Given the description of an element on the screen output the (x, y) to click on. 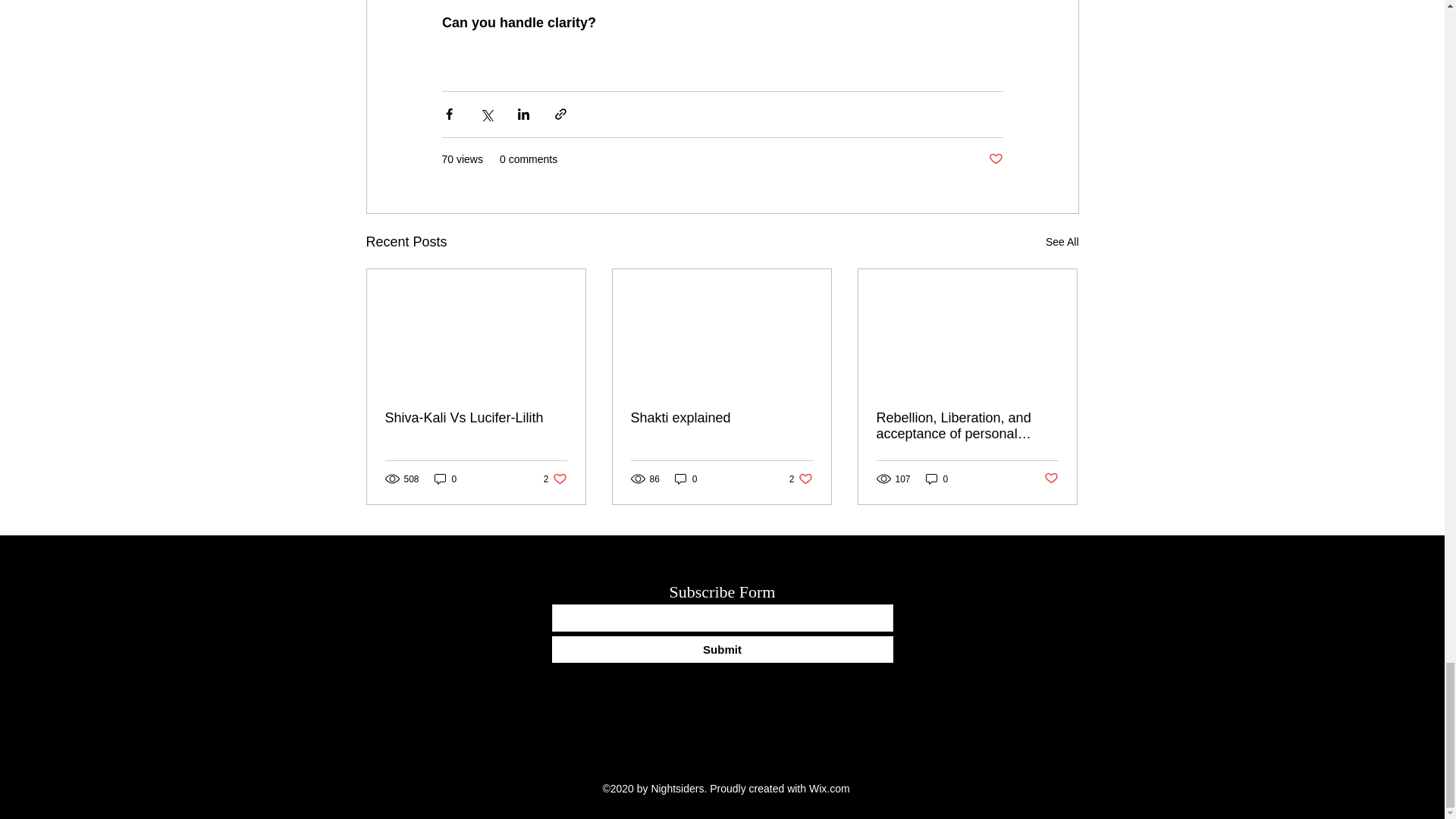
Submit (722, 649)
Shiva-Kali Vs Lucifer-Lilith (476, 417)
0 (685, 478)
Shakti explained (555, 478)
Post not marked as liked (721, 417)
0 (995, 159)
Post not marked as liked (937, 478)
0 (1050, 478)
See All (445, 478)
